Given the description of an element on the screen output the (x, y) to click on. 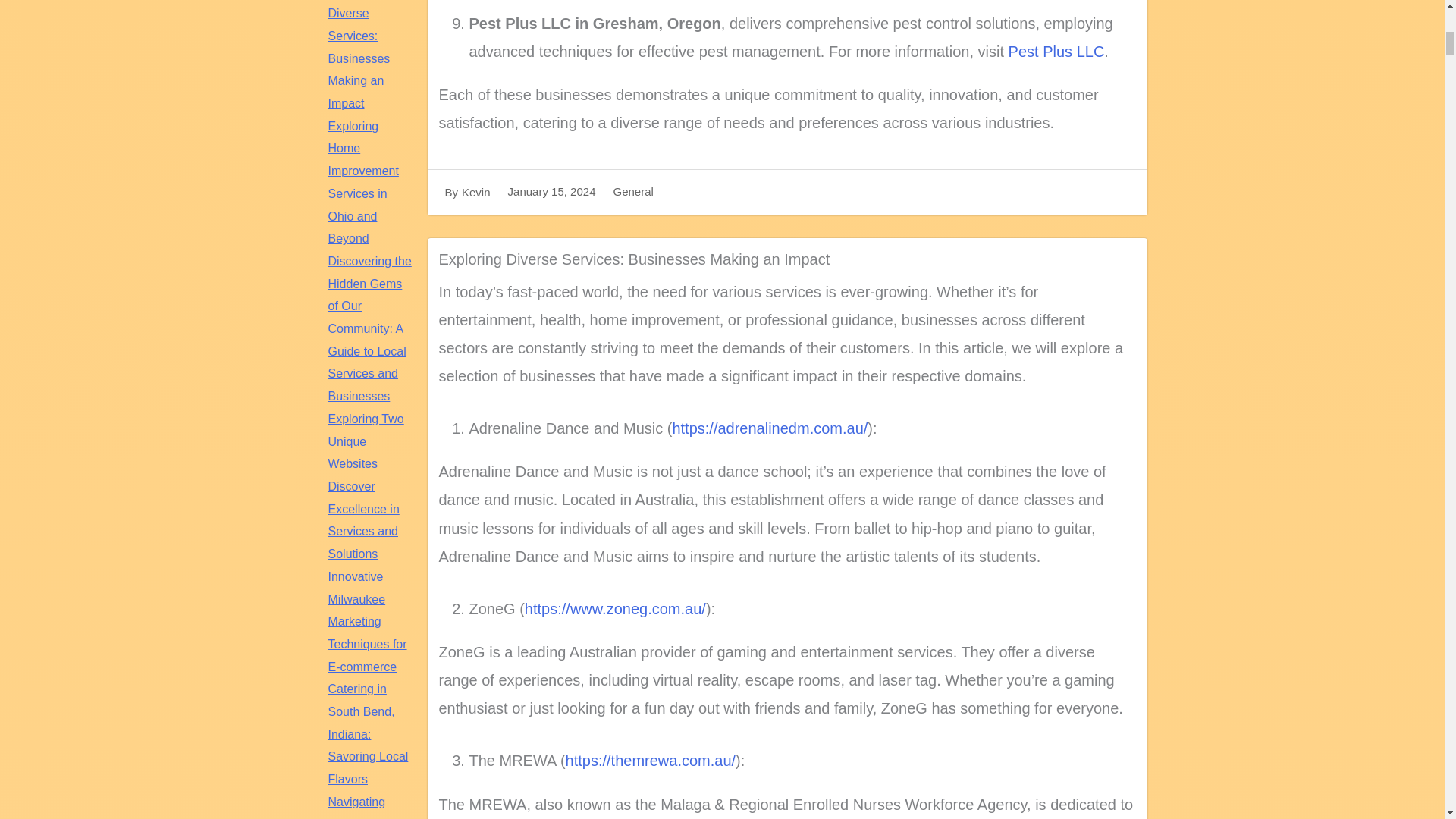
Kevin (475, 192)
Exploring Two Unique Websites (365, 441)
January 15, 2024 (551, 191)
General (632, 191)
